Given the description of an element on the screen output the (x, y) to click on. 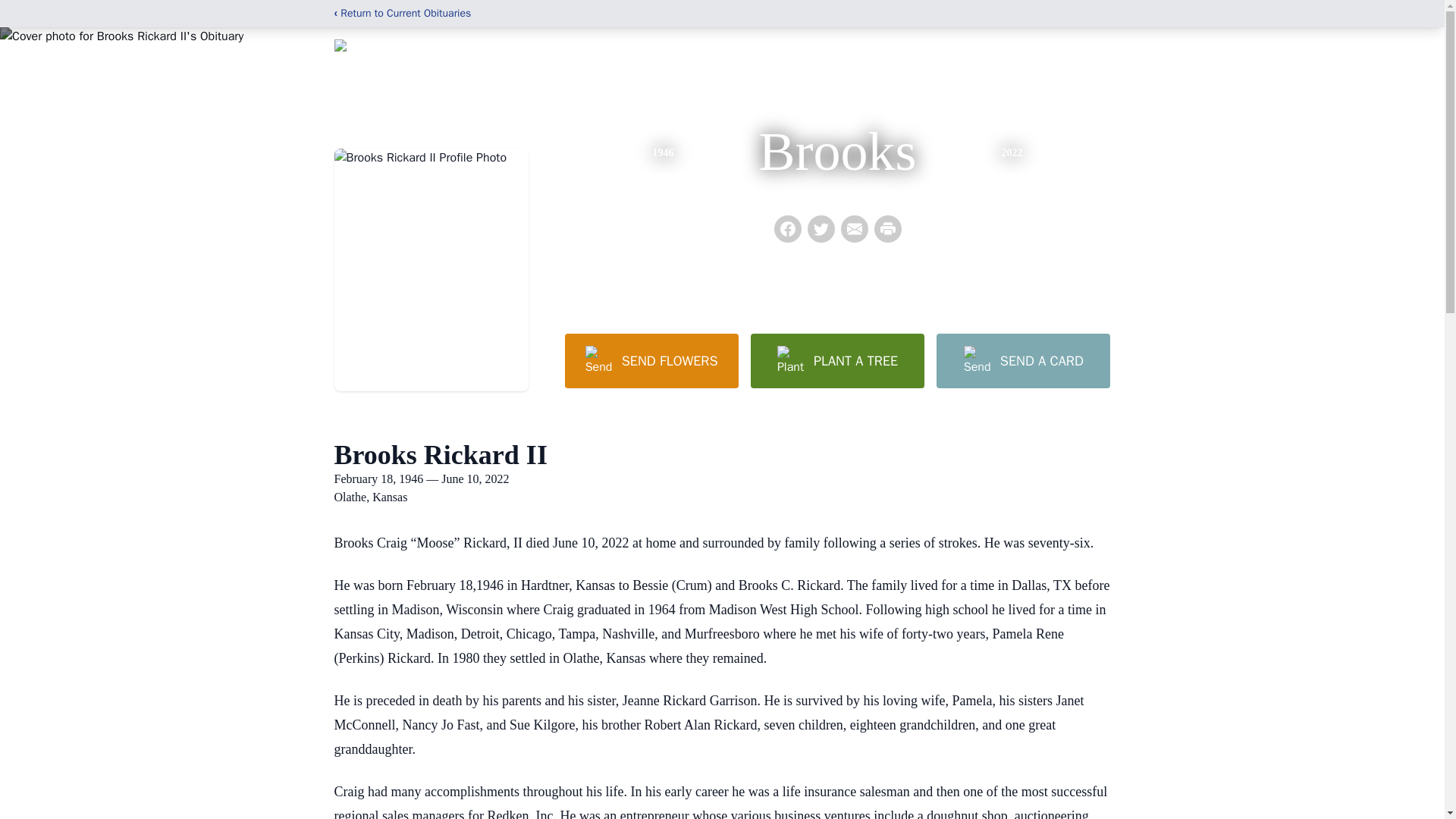
SEND FLOWERS (651, 360)
PLANT A TREE (837, 360)
SEND A CARD (1022, 360)
